Given the description of an element on the screen output the (x, y) to click on. 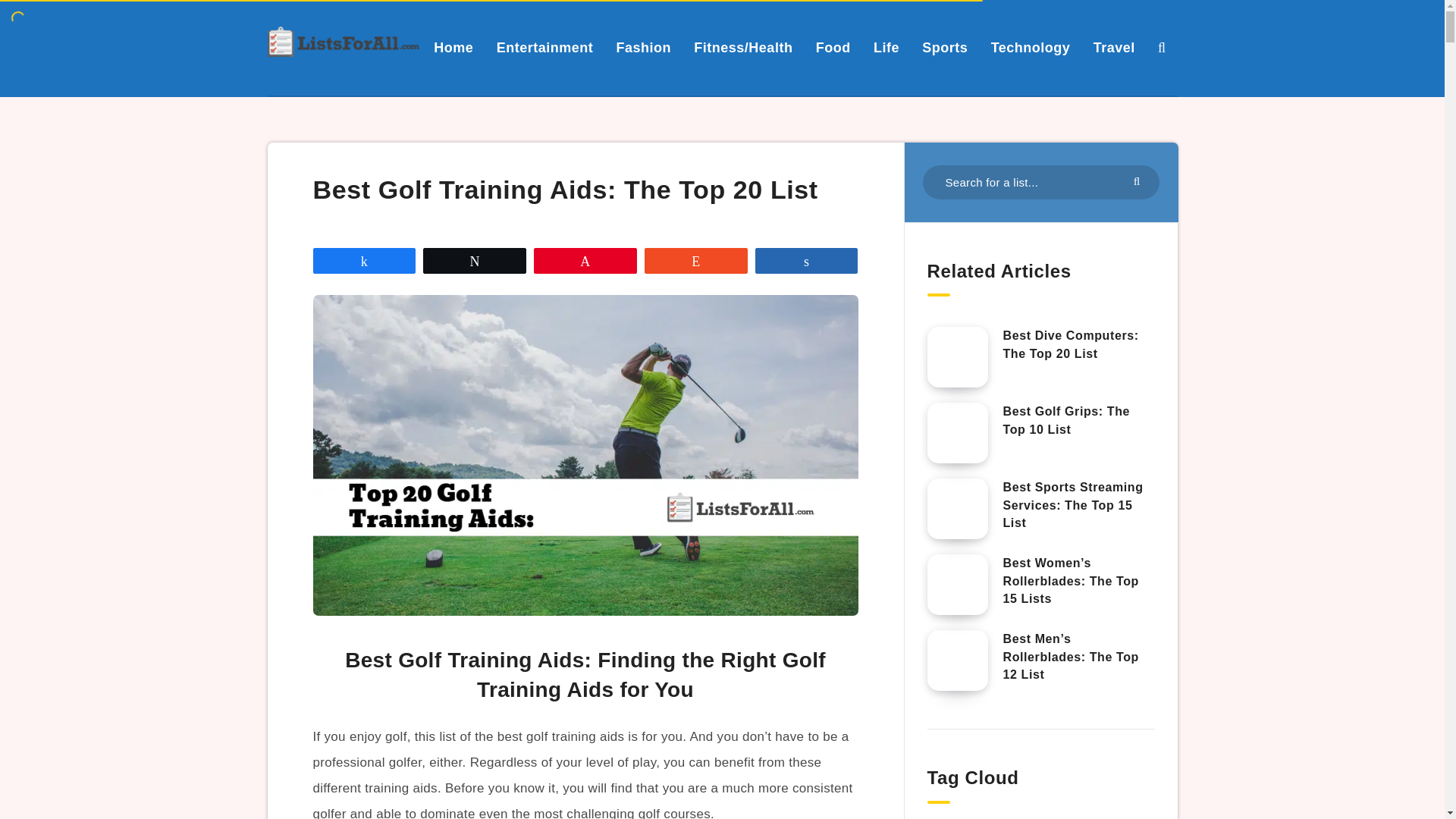
Food (832, 47)
Sports (944, 47)
Fashion (643, 47)
Entertainment (545, 47)
Life (886, 47)
Travel (1114, 47)
Home (453, 47)
Technology (1030, 47)
